Given the description of an element on the screen output the (x, y) to click on. 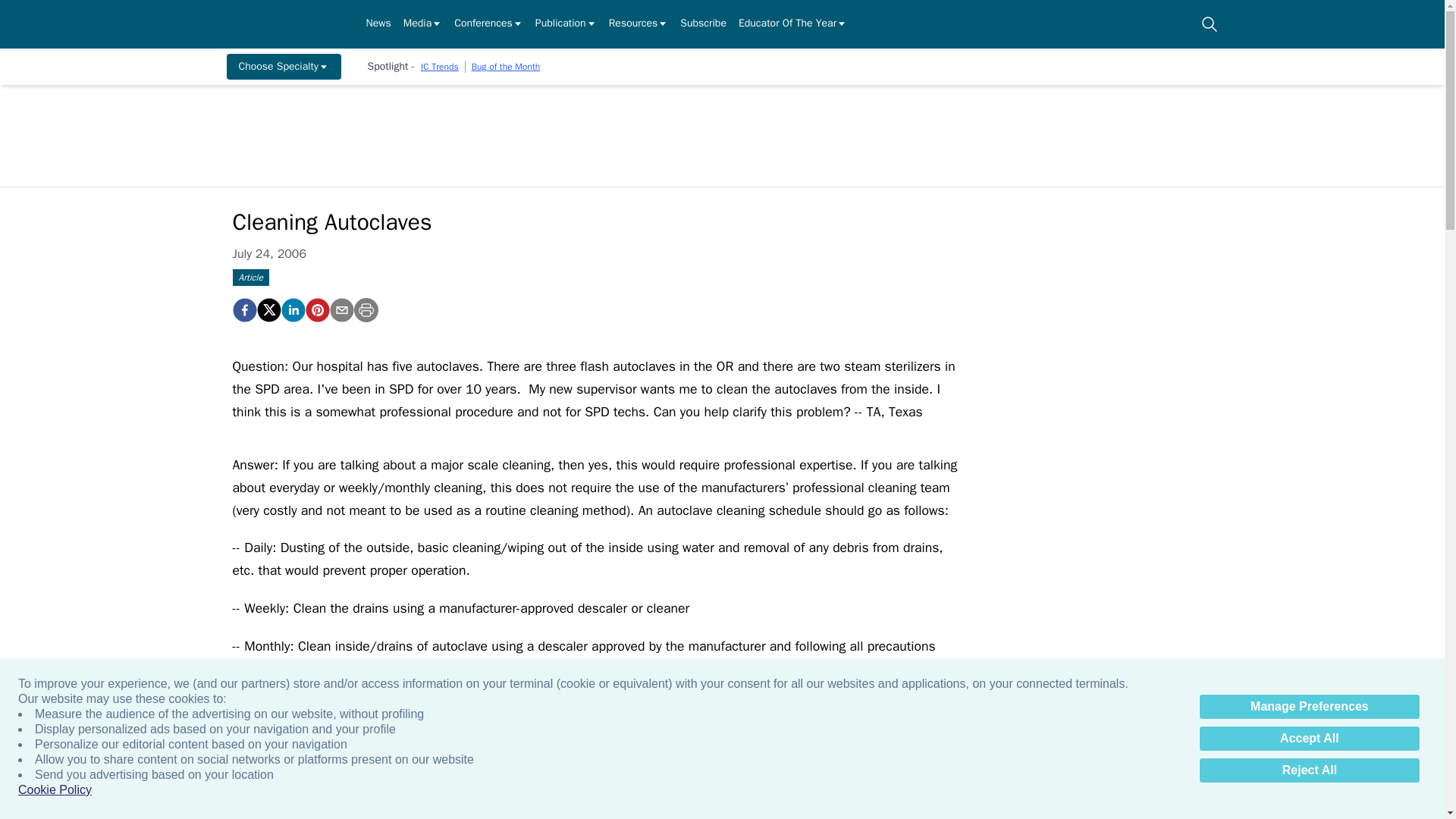
Media (422, 23)
Educator Of The Year (792, 23)
Resources (638, 23)
Reject All (1309, 769)
Conferences (488, 23)
Cleaning Autoclaves (243, 310)
Manage Preferences (1309, 706)
Accept All (1309, 738)
Cookie Policy (54, 789)
Subscribe (702, 23)
News (377, 23)
Publication (565, 23)
Cleaning Autoclaves (316, 310)
